Given the description of an element on the screen output the (x, y) to click on. 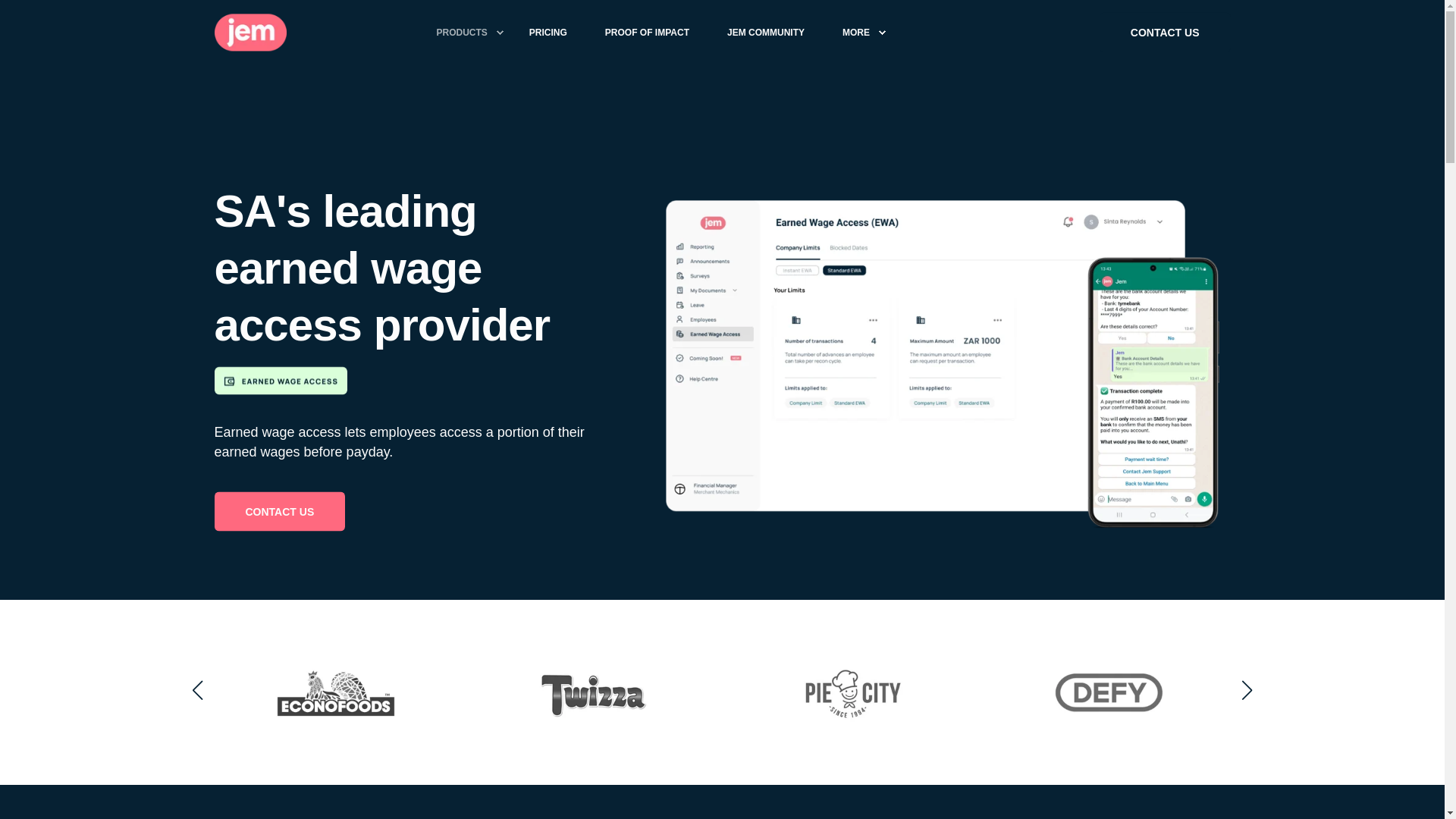
MORE (858, 31)
logo (249, 31)
JEM COMMUNITY (765, 31)
PRODUCTS (462, 31)
CONTACT US (279, 510)
CONTACT US (279, 510)
PROOF OF IMPACT (646, 31)
CONTACT US (1164, 31)
PRICING (548, 31)
CONTACT US (1164, 31)
